Given the description of an element on the screen output the (x, y) to click on. 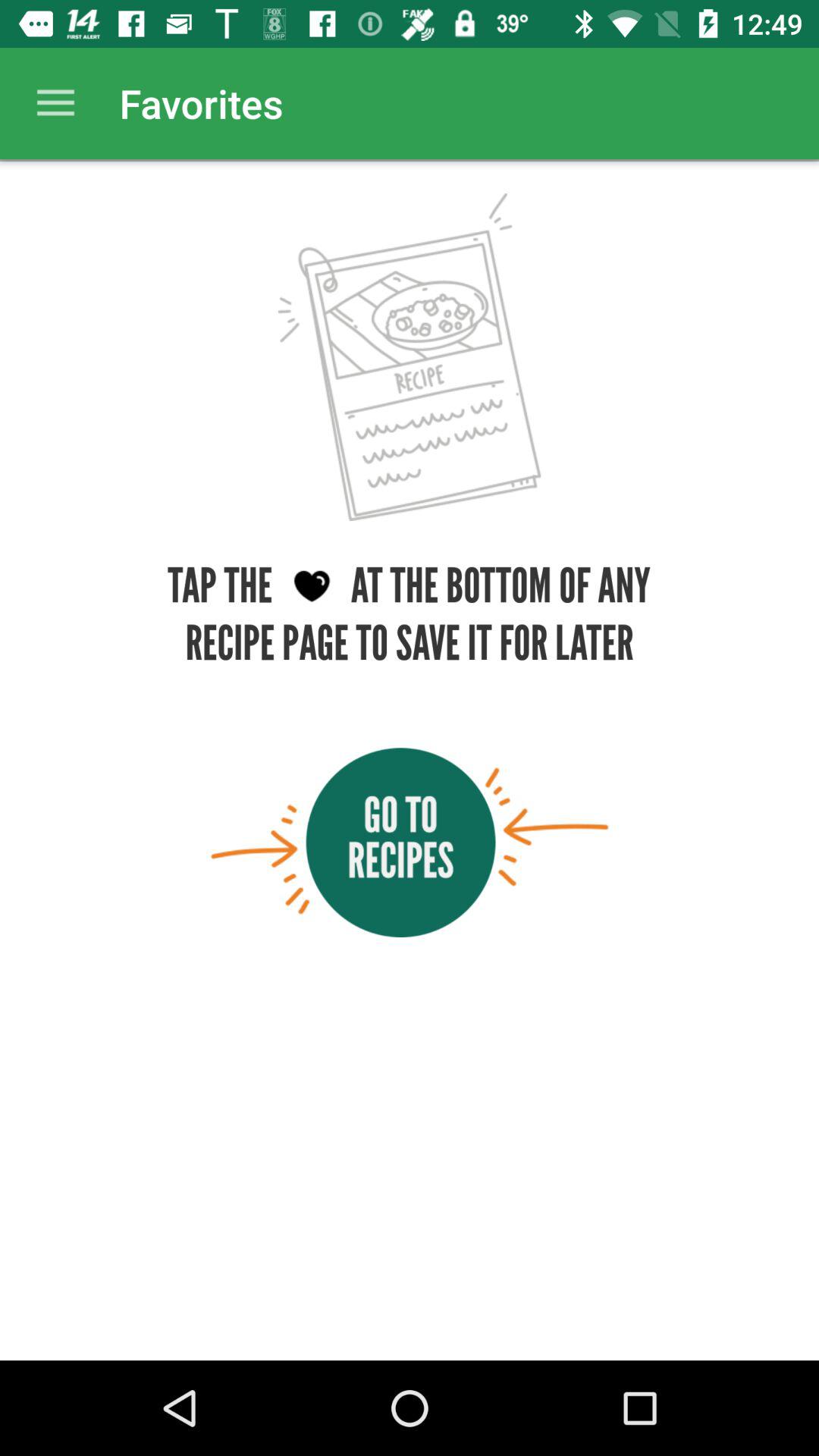
push button option (409, 842)
